Given the description of an element on the screen output the (x, y) to click on. 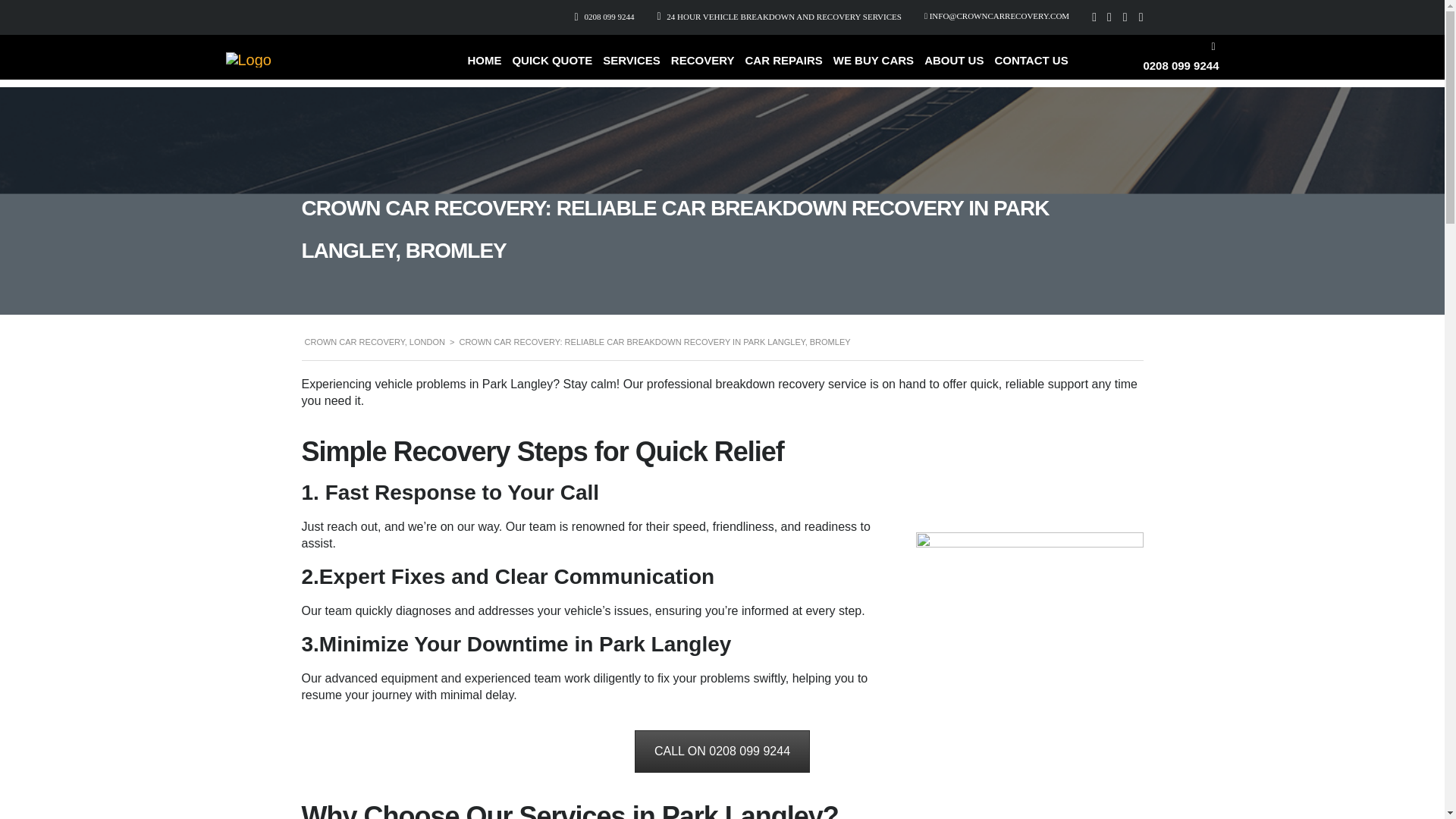
ABOUT US (954, 66)
CONTACT US (1030, 66)
RECOVERY (703, 66)
Go to Crown Car Recovery, London. (374, 341)
Home (248, 59)
HOME (483, 66)
QUICK QUOTE (552, 66)
SERVICES (631, 66)
0208 099 9244 (1180, 65)
WE BUY CARS (873, 66)
0208 099 9244 (608, 16)
CAR REPAIRS (783, 66)
